Given the description of an element on the screen output the (x, y) to click on. 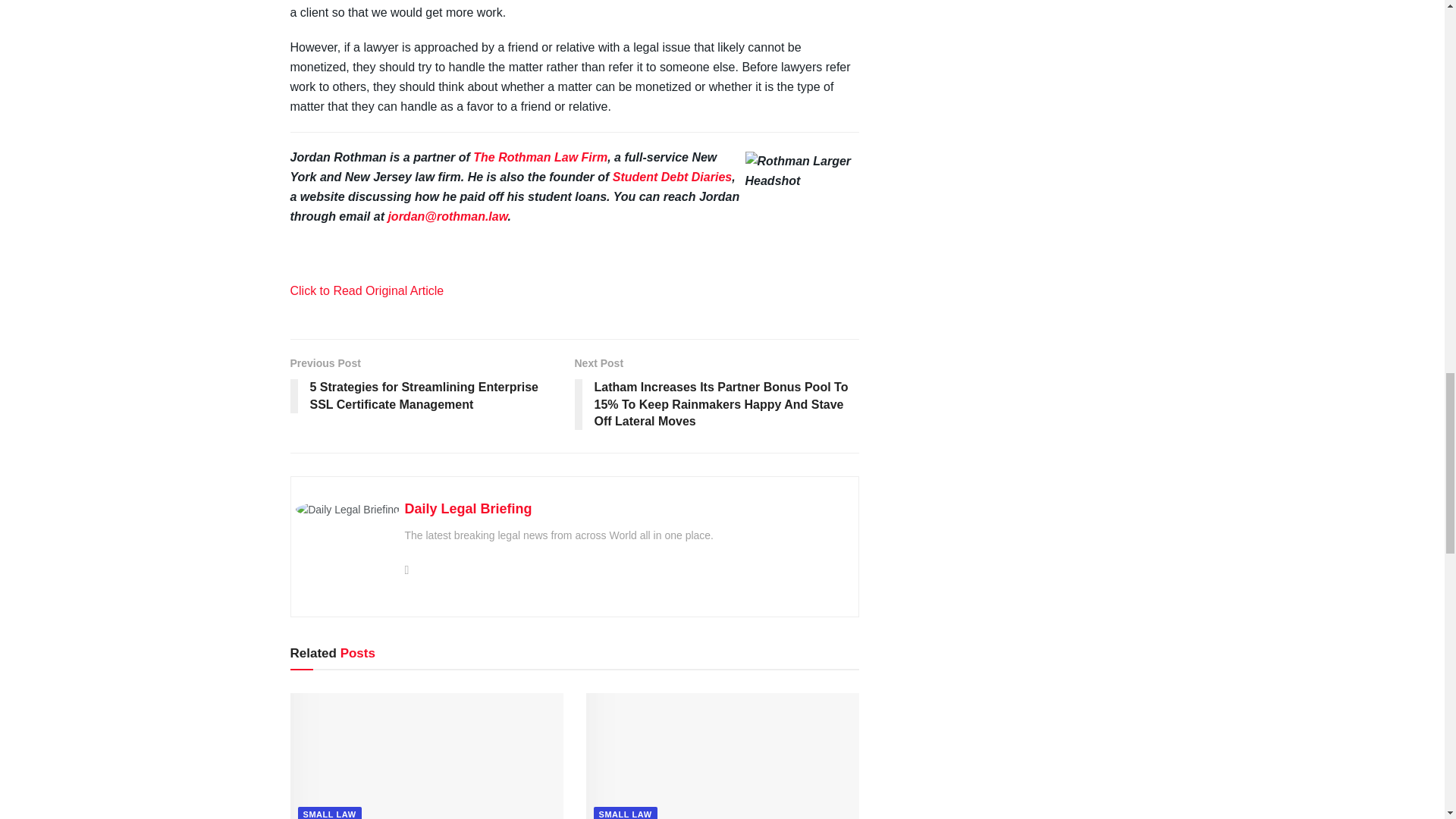
Student Debt Diaries (672, 176)
The Rothman Law Firm (540, 156)
Click to Read Original Article (366, 290)
Daily Legal Briefing (468, 508)
